Given the description of an element on the screen output the (x, y) to click on. 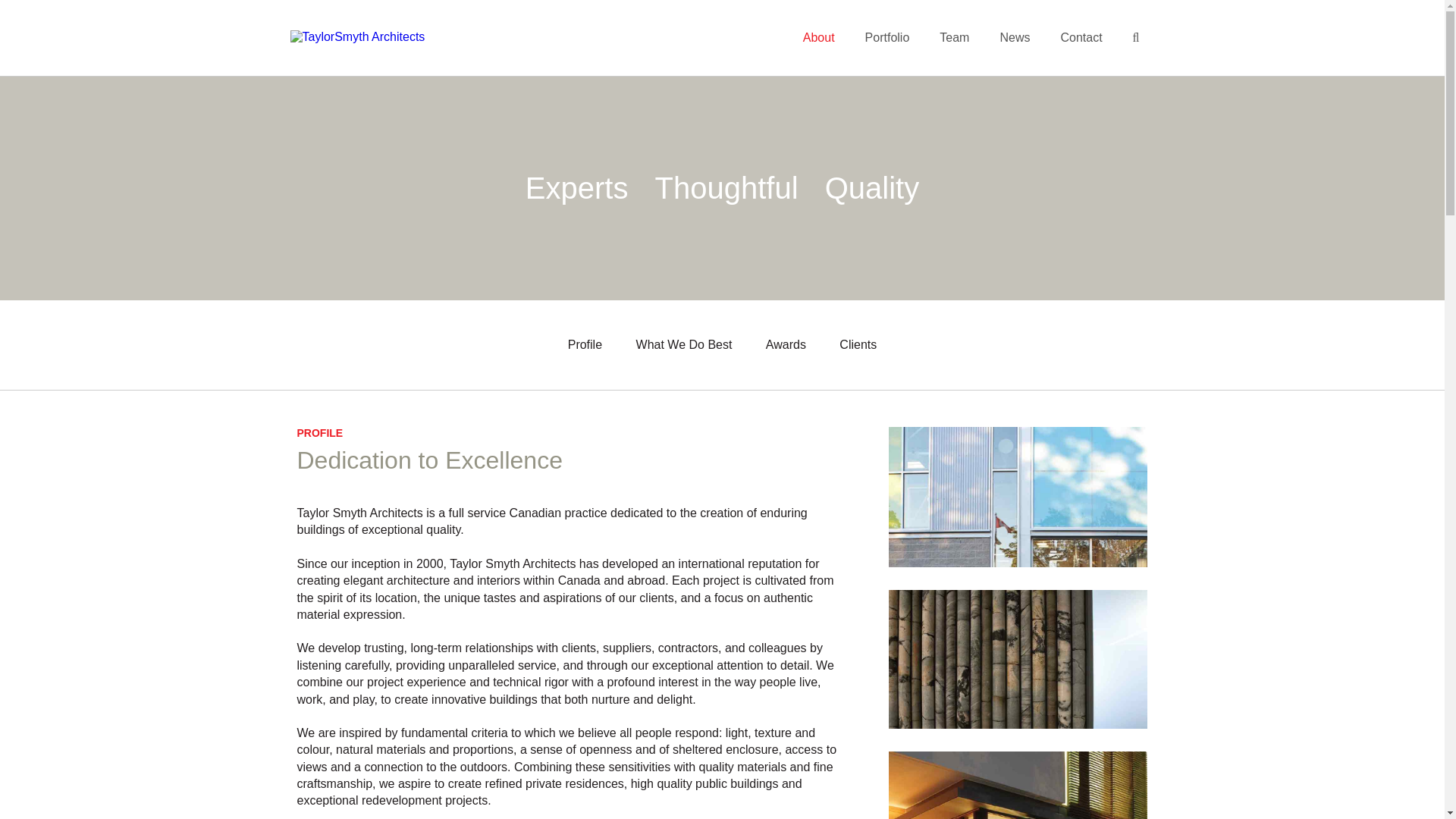
Awards (785, 345)
Team (954, 37)
Profile (584, 345)
About (818, 37)
What We Do Best (684, 345)
Clients (858, 345)
Contact (1080, 37)
News (1014, 37)
Portfolio (887, 37)
